Given the description of an element on the screen output the (x, y) to click on. 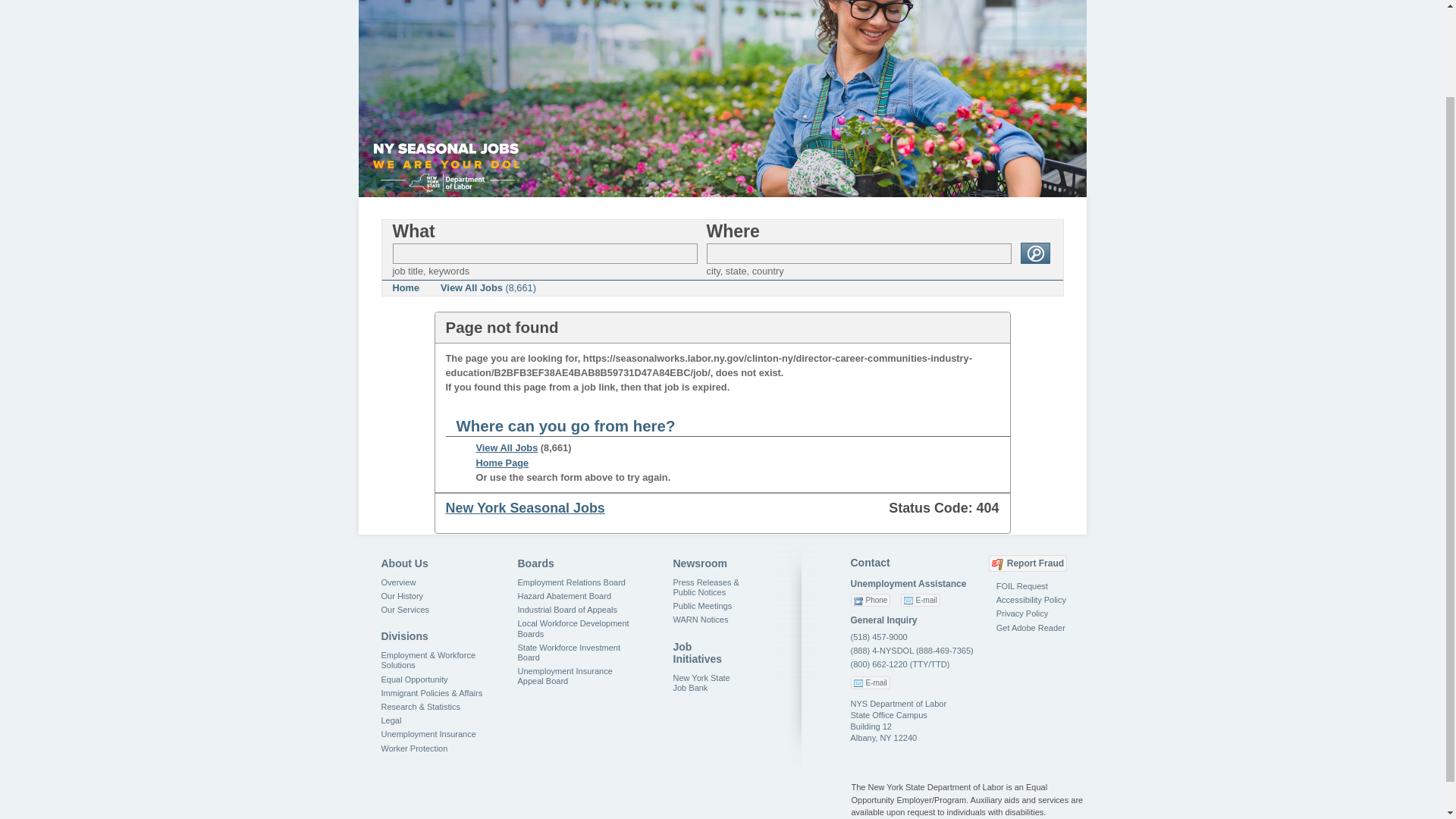
Hazard Abatement Board (563, 595)
Phone (870, 599)
search (1034, 252)
E-mail (869, 682)
Search Phrase (545, 253)
View All Jobs (507, 447)
Report Fraud (1027, 563)
Search Location (858, 253)
Employment Relations Board (570, 582)
Overview (397, 582)
